Given the description of an element on the screen output the (x, y) to click on. 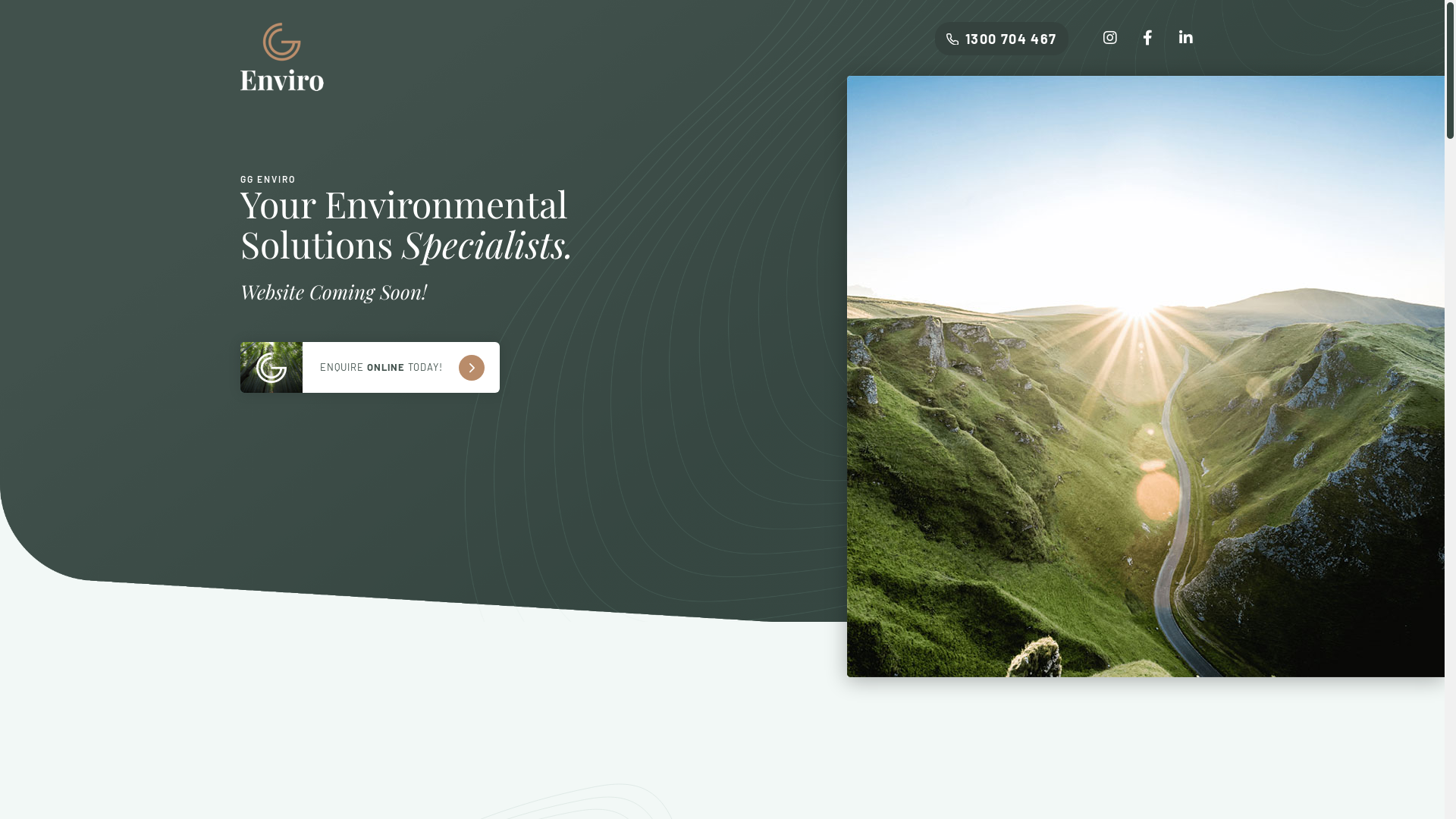
ENQUIRE ONLINE TODAY! Element type: text (368, 367)
1300 704 467 Element type: text (1001, 38)
